Given the description of an element on the screen output the (x, y) to click on. 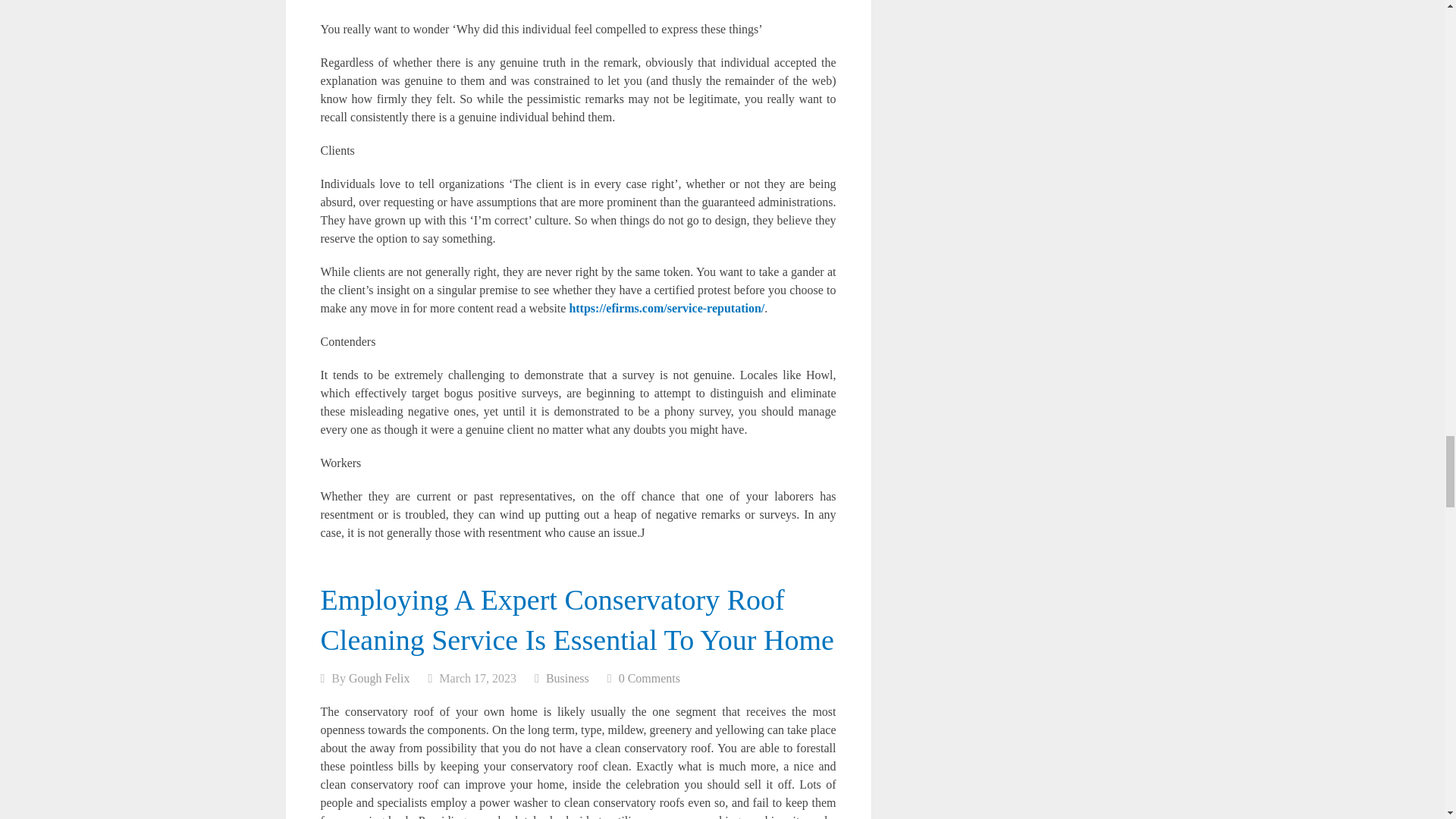
Posts by Gough Felix (379, 677)
Business (567, 677)
Gough Felix (379, 677)
